Given the description of an element on the screen output the (x, y) to click on. 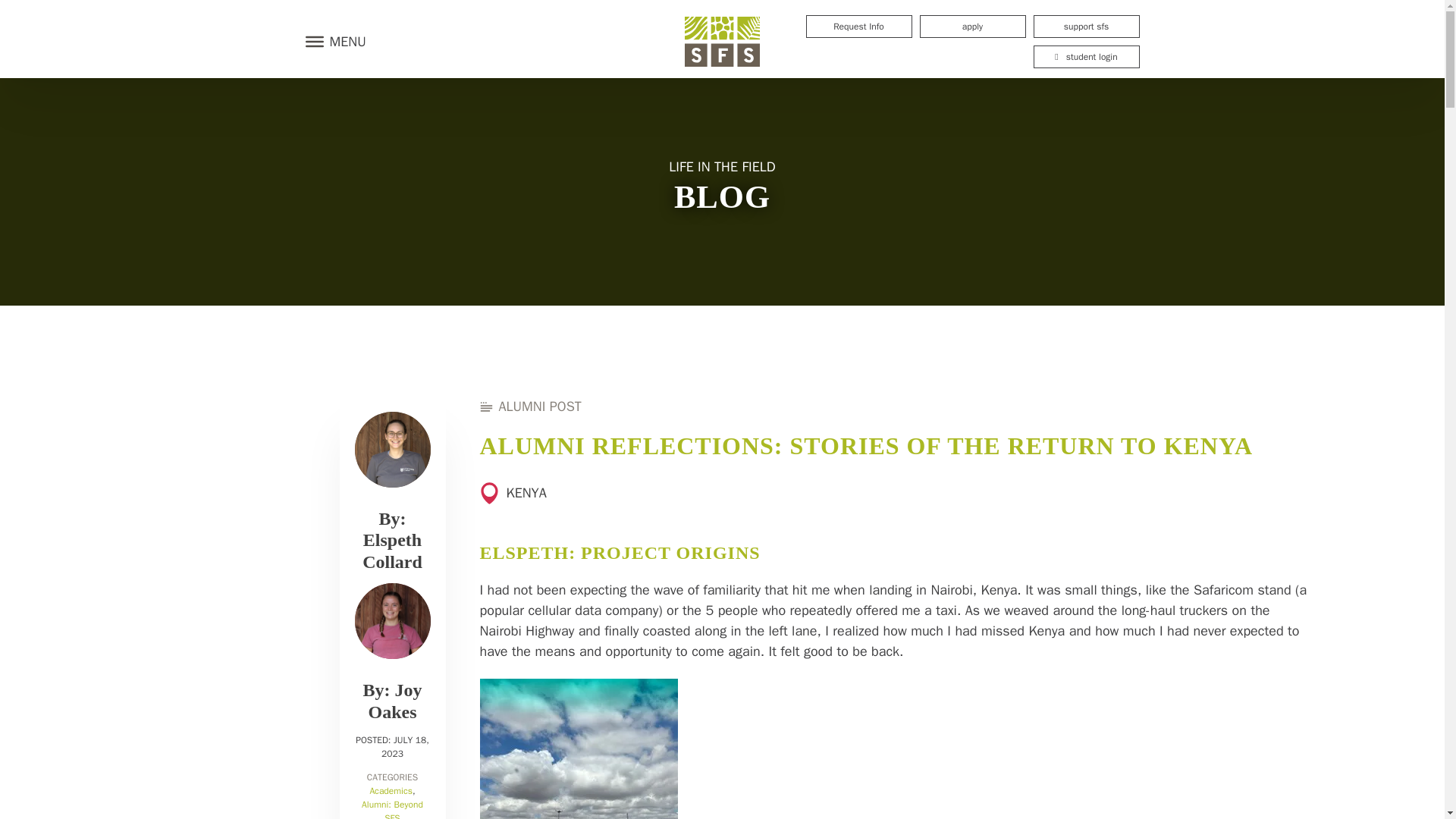
Request Info (858, 26)
student login (1085, 56)
support sfs (1085, 26)
apply (971, 26)
MENU (331, 41)
